Given the description of an element on the screen output the (x, y) to click on. 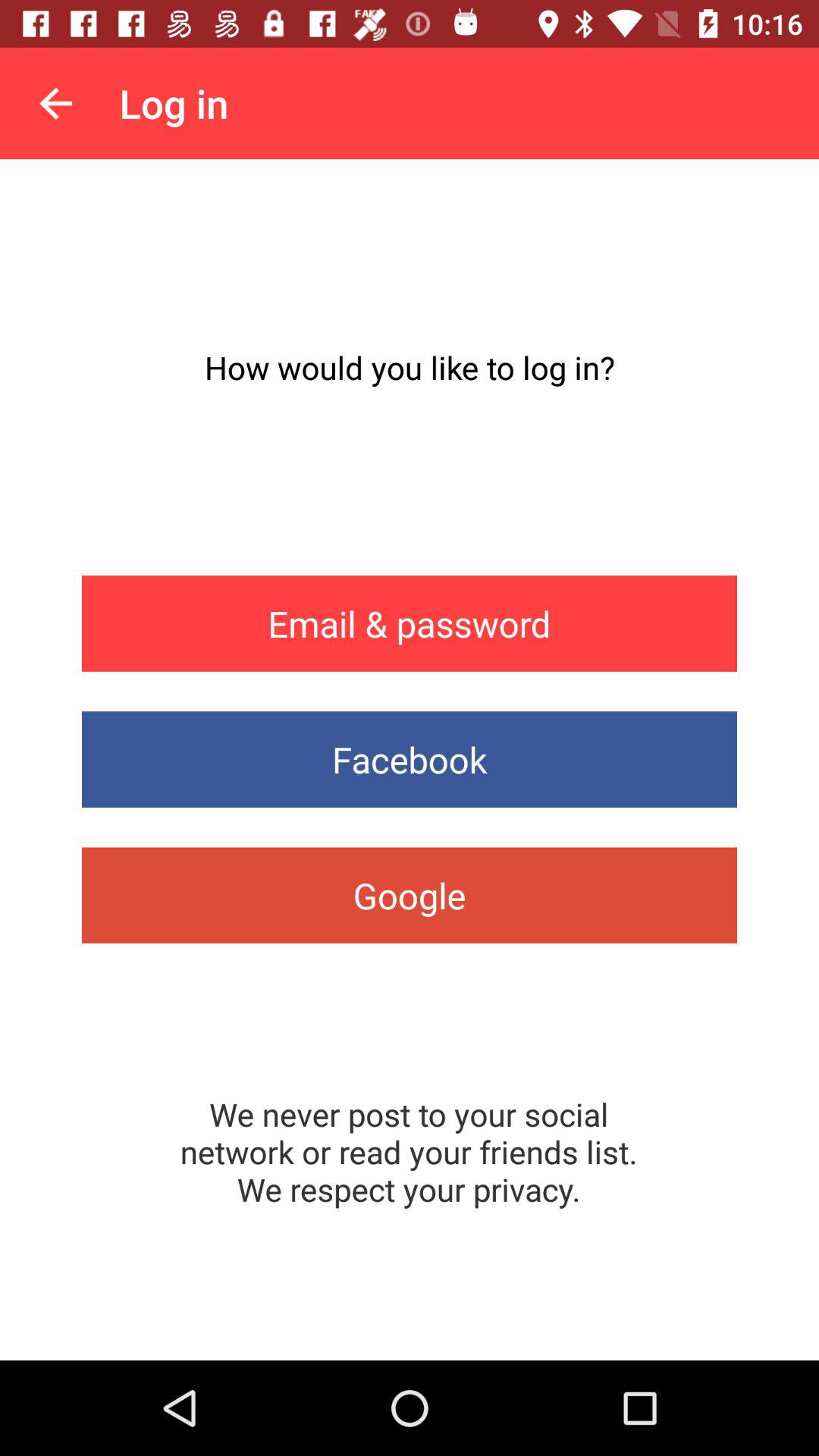
press google (409, 895)
